Given the description of an element on the screen output the (x, y) to click on. 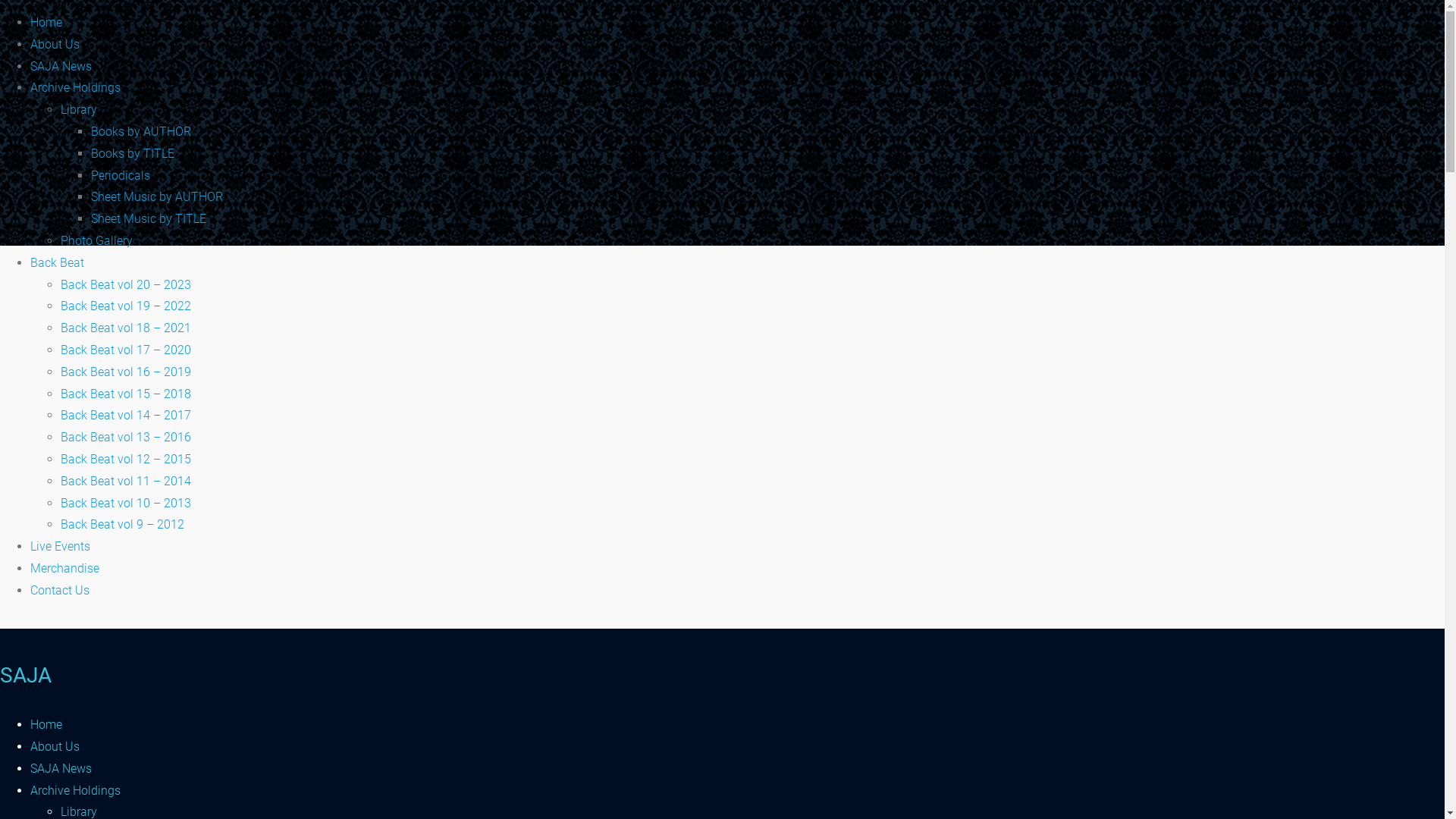
Contact Us Element type: text (59, 590)
Photo Gallery Element type: text (96, 240)
Books by TITLE Element type: text (132, 153)
Home Element type: text (46, 22)
Live Events Element type: text (60, 546)
Sheet Music by AUTHOR Element type: text (156, 196)
Books by AUTHOR Element type: text (141, 131)
Archive Holdings Element type: text (75, 87)
Library Element type: text (78, 109)
Home Element type: text (46, 724)
Merchandise Element type: text (64, 568)
Periodicals Element type: text (120, 175)
Back Beat Element type: text (57, 262)
SAJA News Element type: text (60, 768)
SAJA Element type: text (25, 674)
Sheet Music by TITLE Element type: text (148, 218)
About Us Element type: text (54, 44)
SAJA News Element type: text (60, 66)
About Us Element type: text (54, 746)
Archive Holdings Element type: text (75, 789)
